Given the description of an element on the screen output the (x, y) to click on. 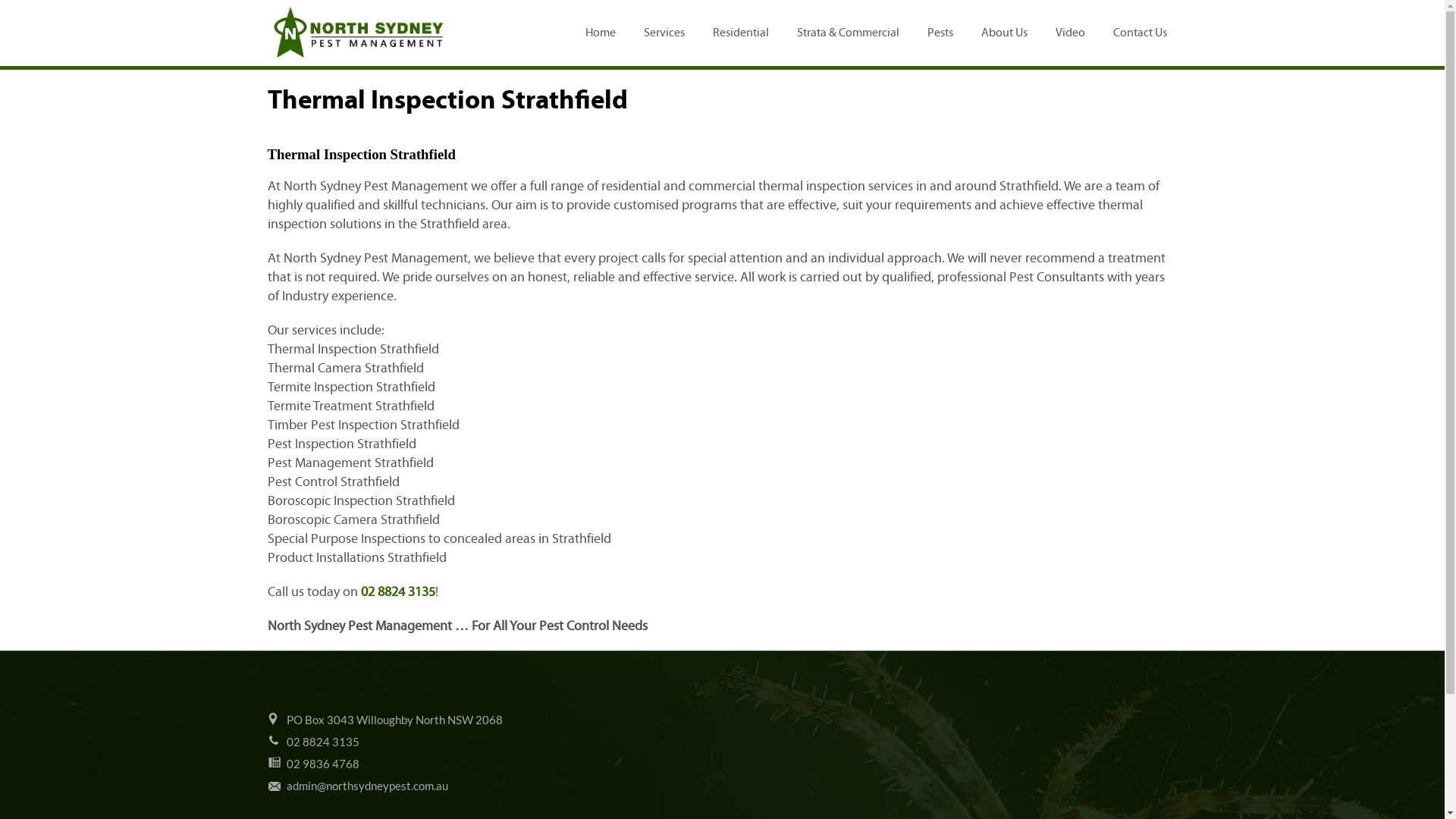
Video Element type: text (1069, 32)
About Us Element type: text (1004, 32)
Strata & Commercial Element type: text (847, 32)
Home Element type: text (600, 32)
02 8824 3135 Element type: text (397, 591)
Services Element type: text (663, 32)
Pests Element type: text (939, 32)
Contact Us Element type: text (1139, 32)
admin@northsydneypest.com.au Element type: text (367, 785)
02 8824 3135 Element type: text (322, 741)
Residential Element type: text (740, 32)
